Given the description of an element on the screen output the (x, y) to click on. 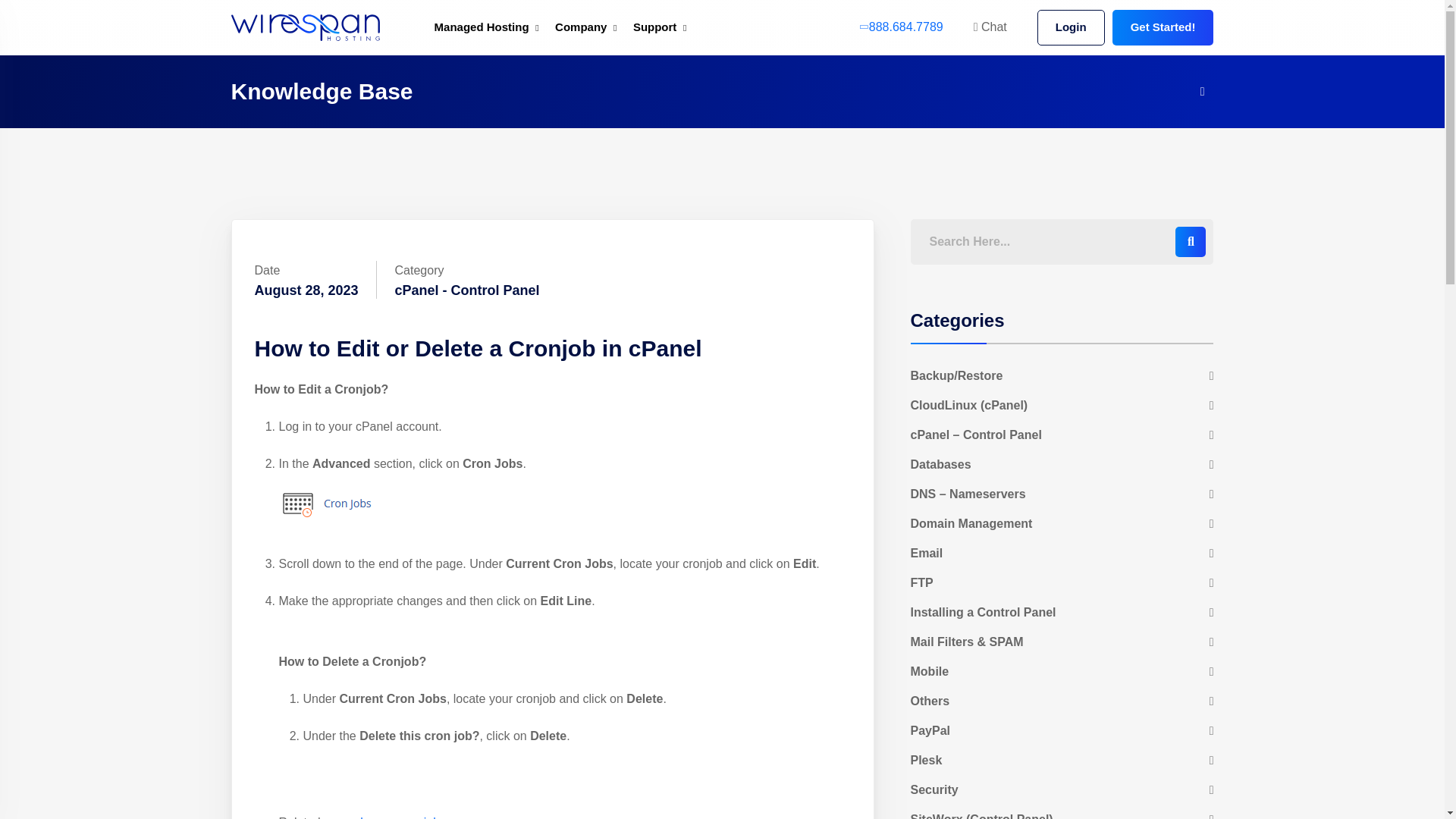
Company (580, 27)
Managed Hosting (481, 27)
Login (1070, 27)
Get Started! (1163, 27)
888.684.7789 (902, 26)
Support (654, 27)
Chat (990, 26)
